Given the description of an element on the screen output the (x, y) to click on. 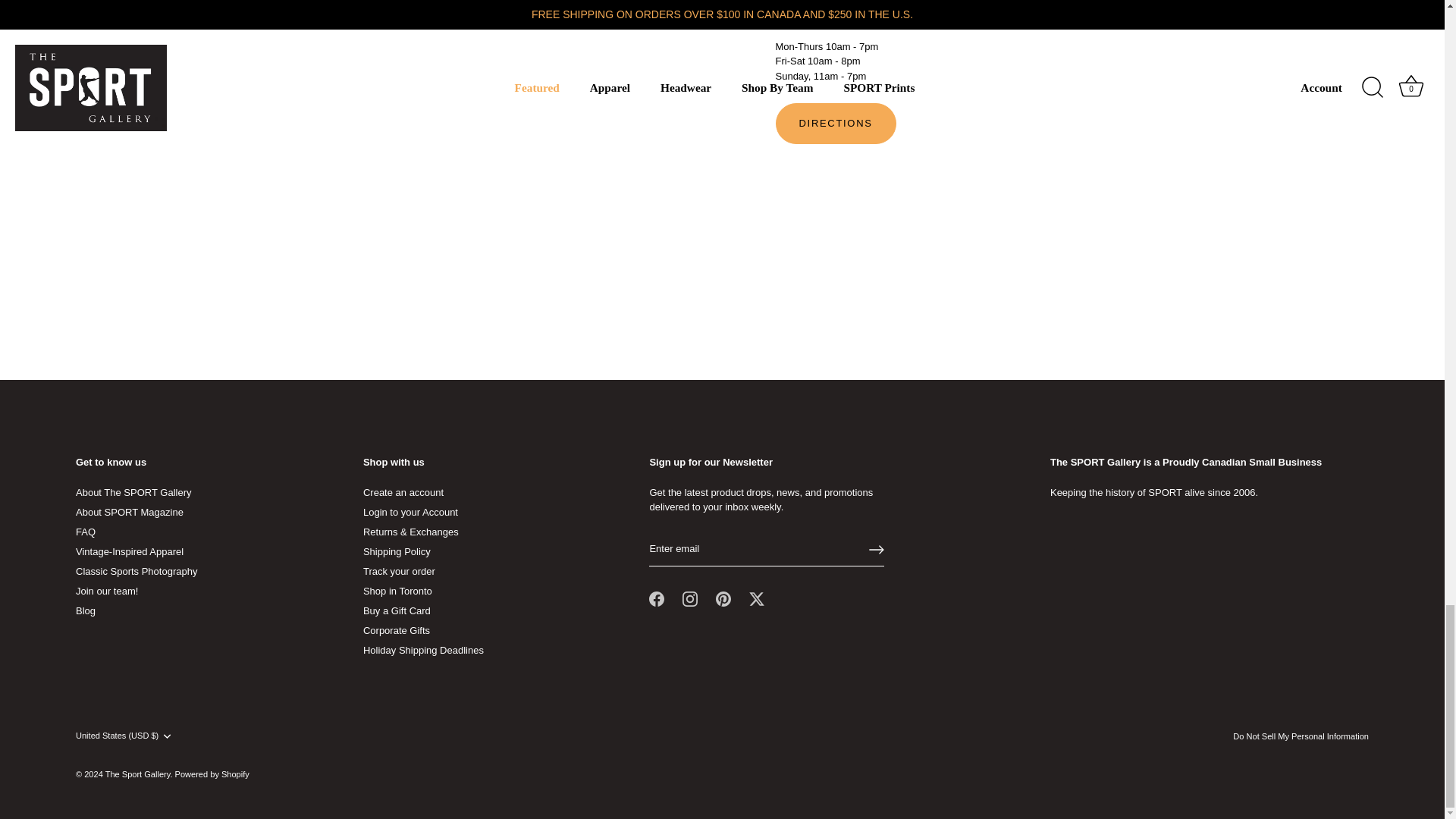
Instagram (689, 598)
Pinterest (723, 598)
RIGHT ARROW LONG (876, 549)
